Given the description of an element on the screen output the (x, y) to click on. 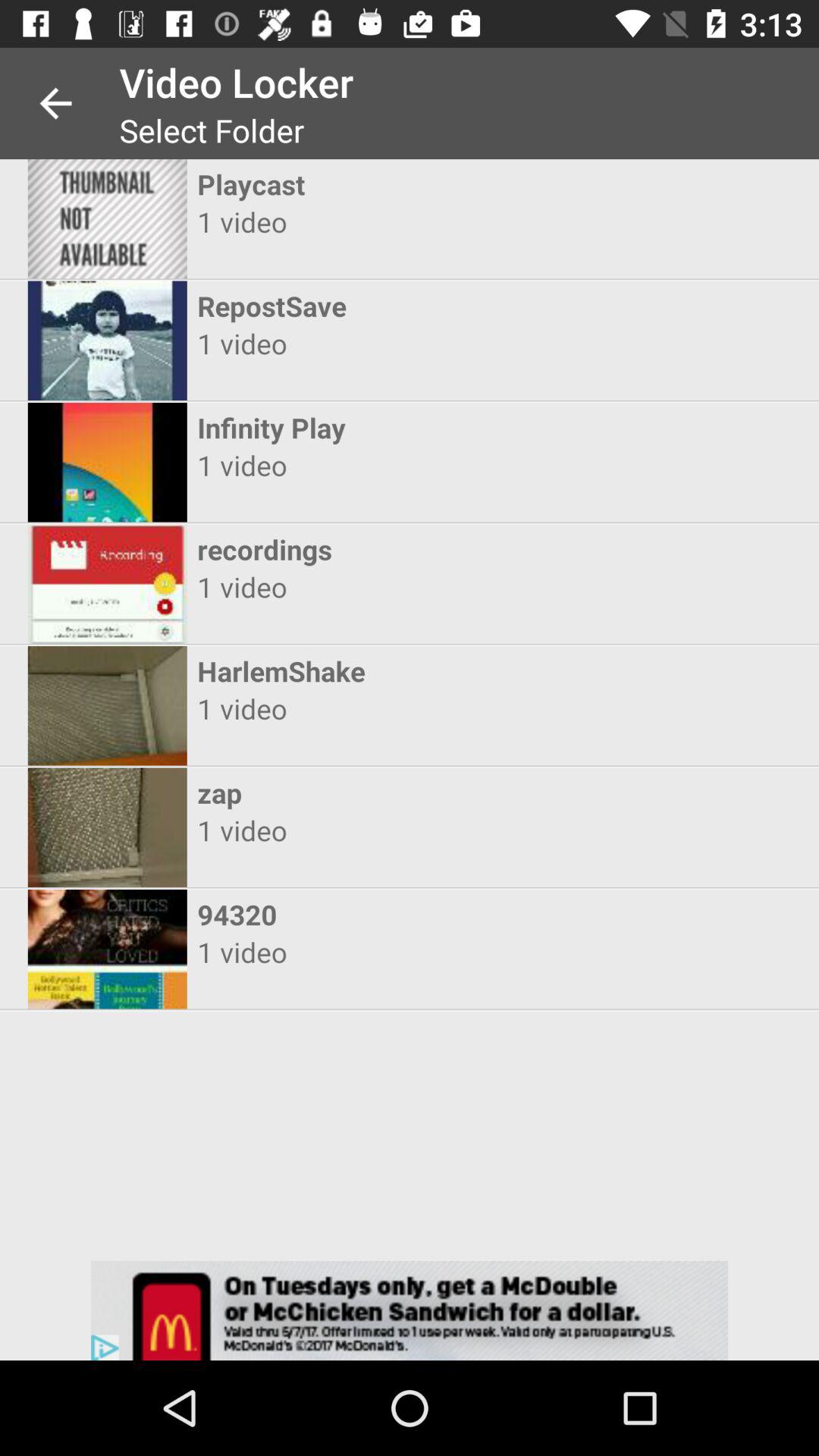
select the last option (107, 949)
click on the image which is left side of the text zap (107, 827)
